Given the description of an element on the screen output the (x, y) to click on. 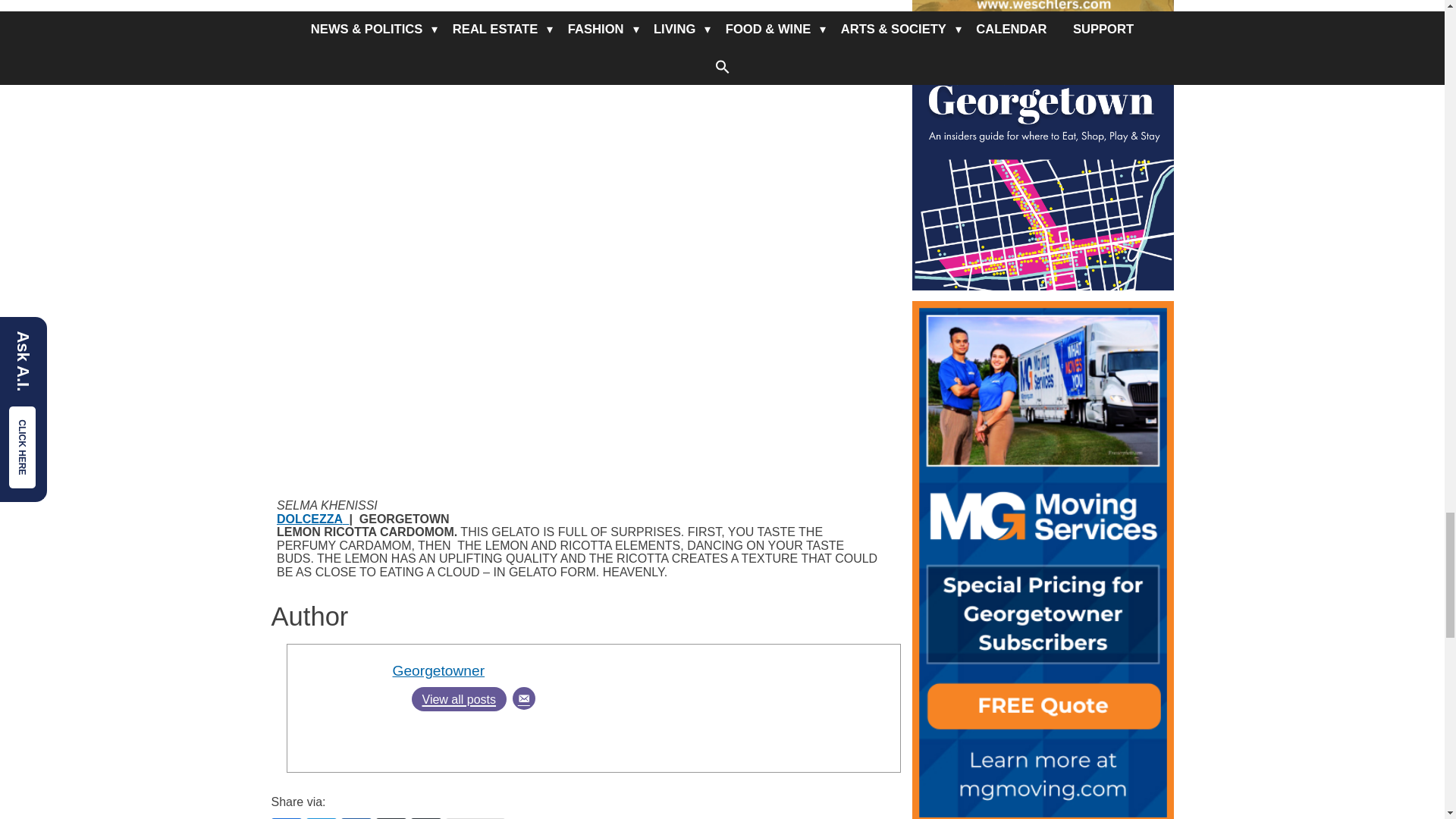
View all posts (458, 699)
Georgetowner (437, 670)
The Georgetowner Interactive Map (1042, 159)
Weschler's Skyscraper Ad July (1042, 9)
